Given the description of an element on the screen output the (x, y) to click on. 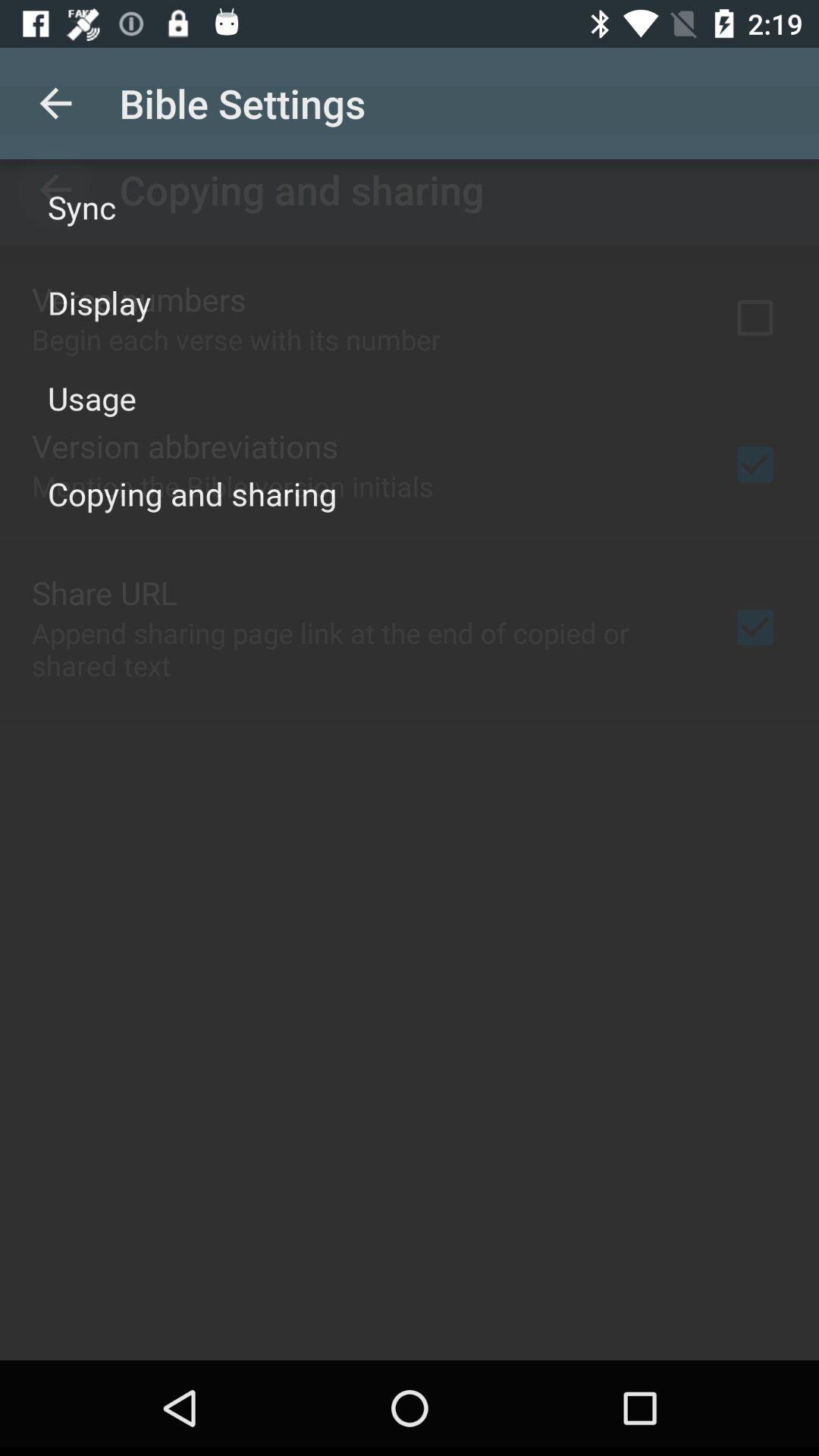
tap item next to bible settings app (55, 103)
